Given the description of an element on the screen output the (x, y) to click on. 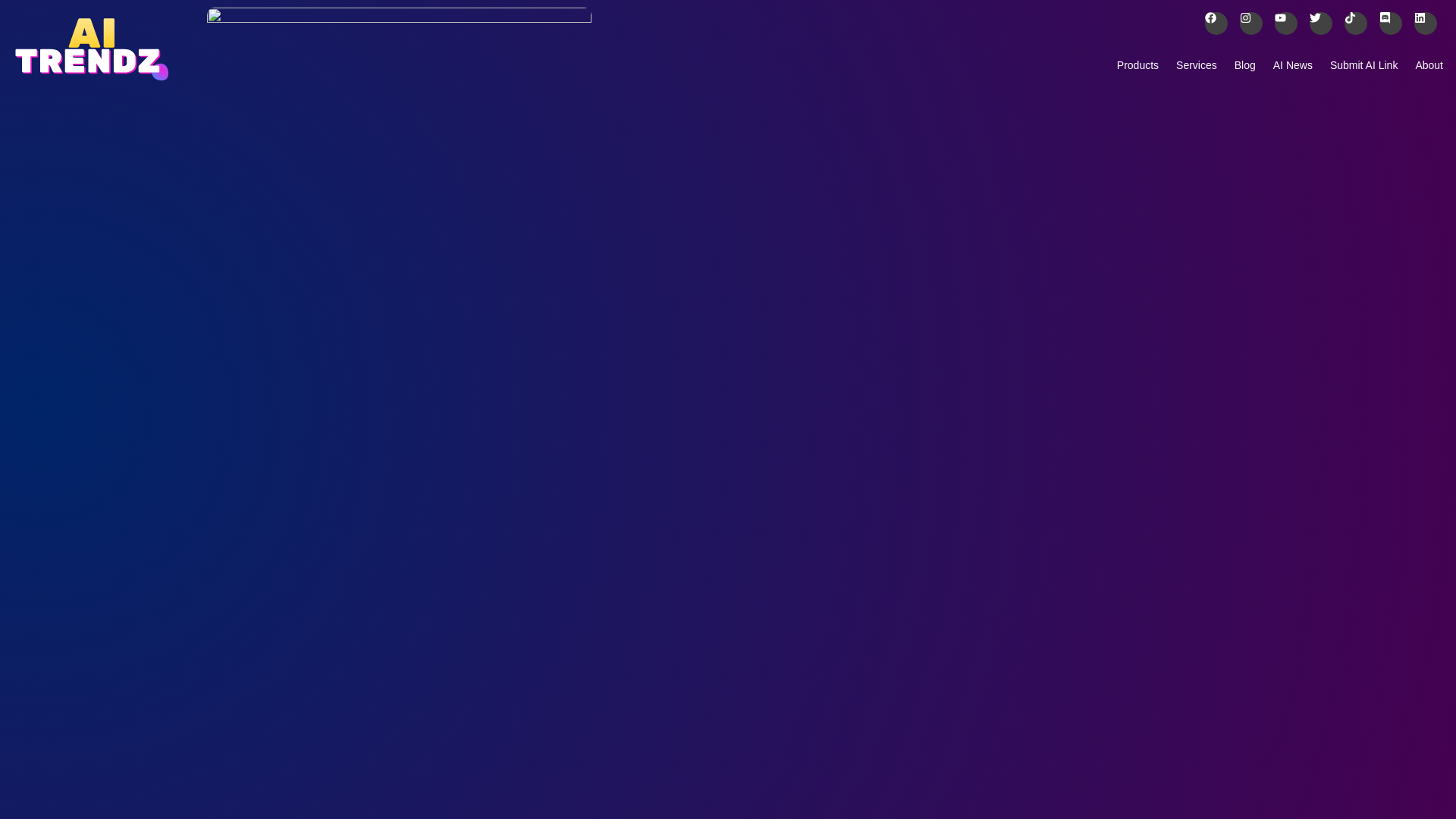
Services (1196, 64)
Products (1137, 64)
Submit AI Link (1363, 64)
AI News (1292, 64)
About (1428, 64)
Blog (1244, 64)
